Given the description of an element on the screen output the (x, y) to click on. 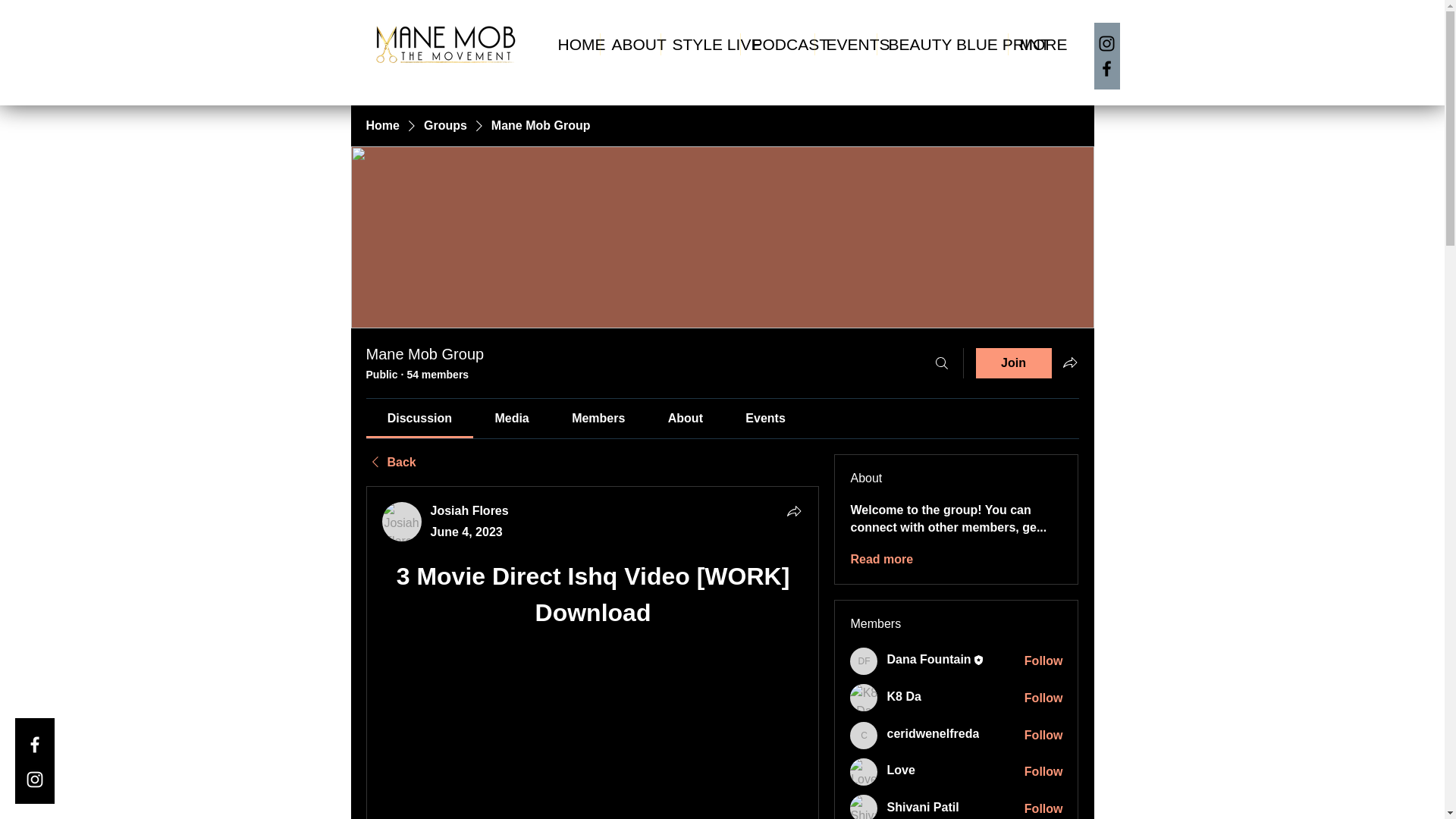
Dana Fountain (863, 660)
Shivani Patil (922, 807)
June 4, 2023 (466, 531)
Read more (881, 559)
ceridwenelfreda (932, 733)
Josiah Flores (469, 510)
ceridwenelfreda (932, 733)
Home (381, 125)
K8 Da (863, 697)
Follow (1043, 698)
